Given the description of an element on the screen output the (x, y) to click on. 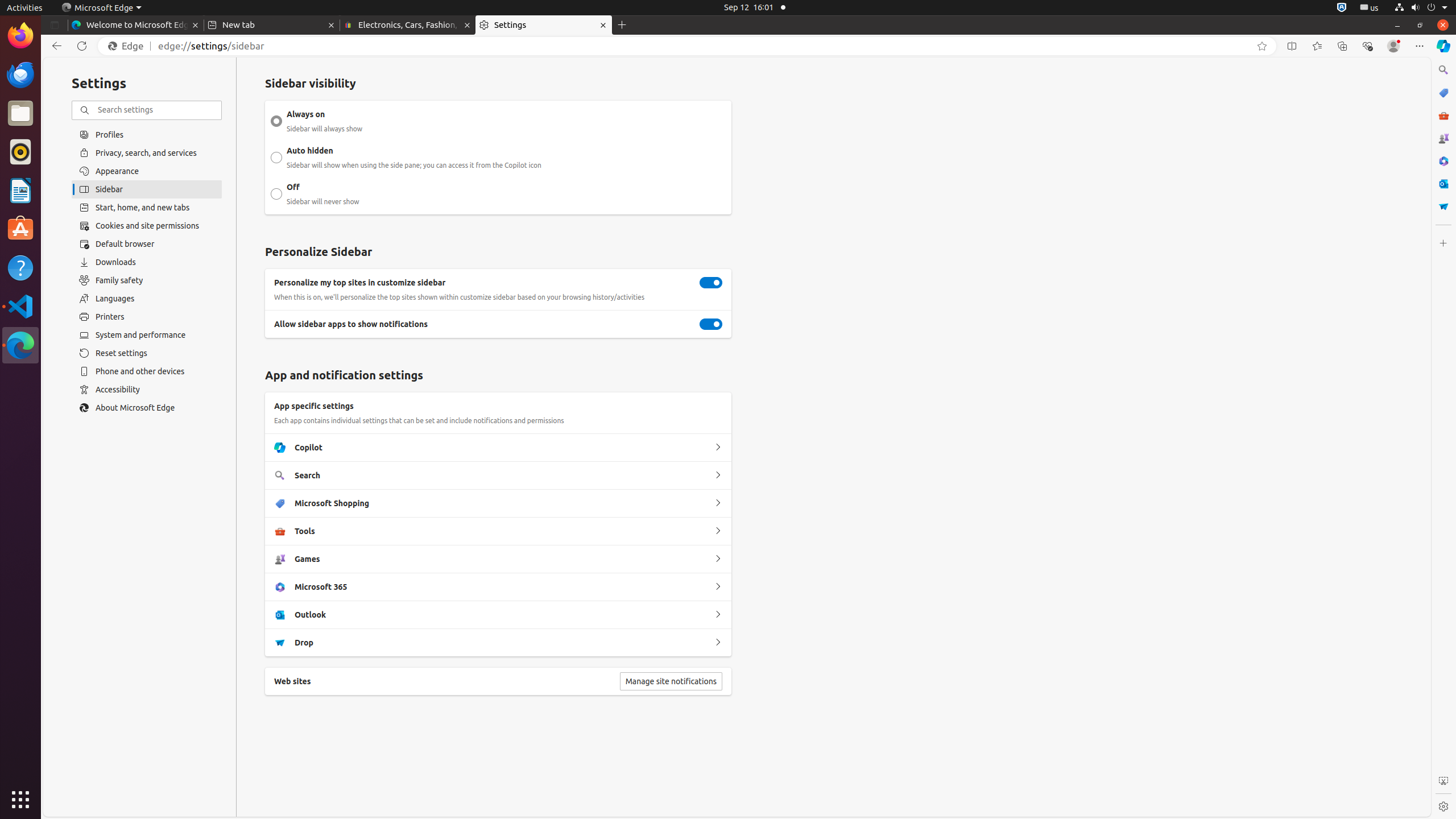
Firefox Web Browser Element type: push-button (20, 35)
Always on Sidebar will always show Element type: radio-button (276, 120)
Appearance Element type: tree-item (146, 171)
Privacy, search, and services Element type: tree-item (146, 152)
Languages Element type: tree-item (146, 298)
